Given the description of an element on the screen output the (x, y) to click on. 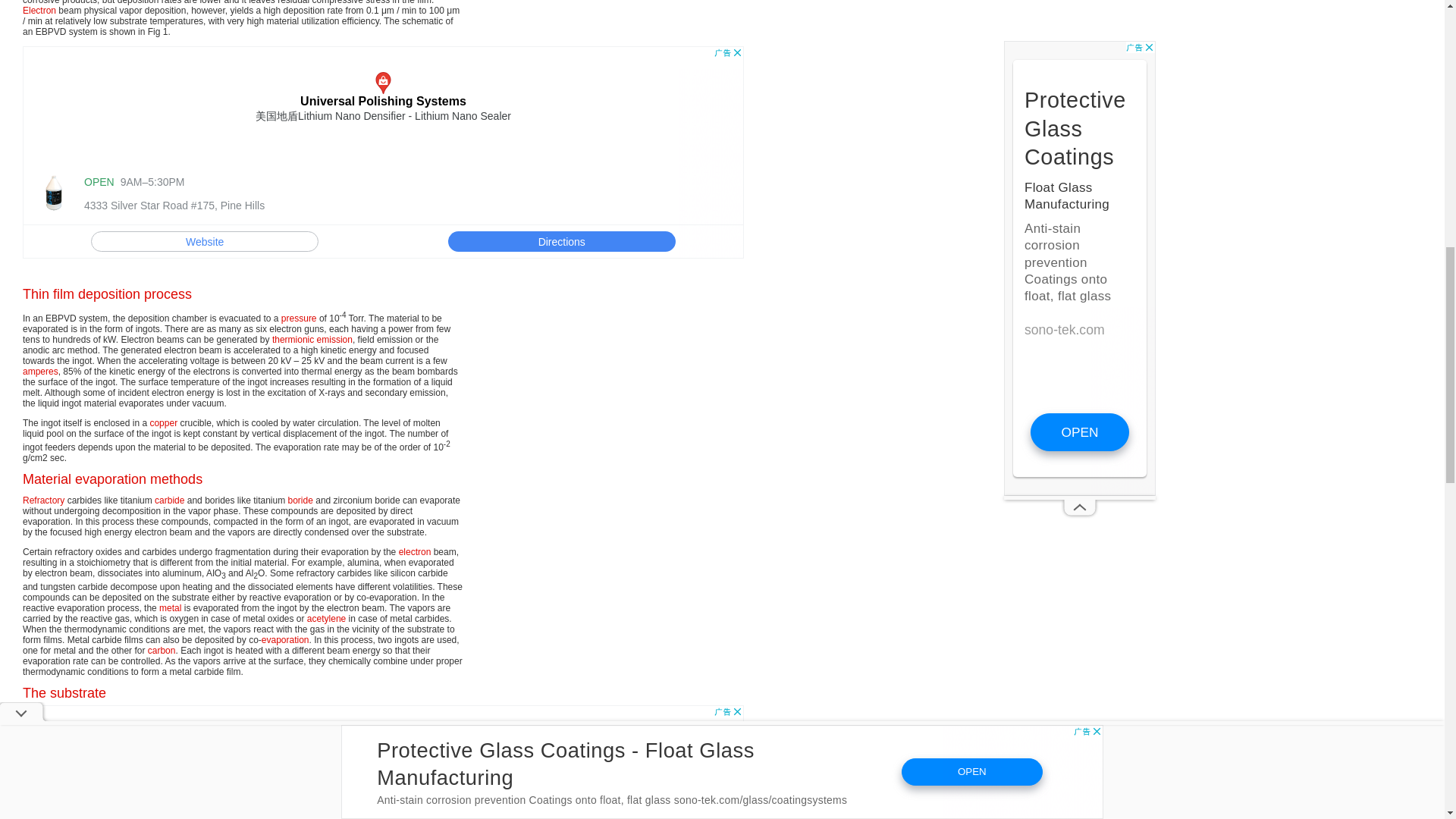
Thermionic emission (312, 339)
Copper (163, 422)
Pressure (299, 317)
Electron (39, 9)
Refractory (43, 500)
Amperes (40, 371)
Electron (39, 9)
